Given the description of an element on the screen output the (x, y) to click on. 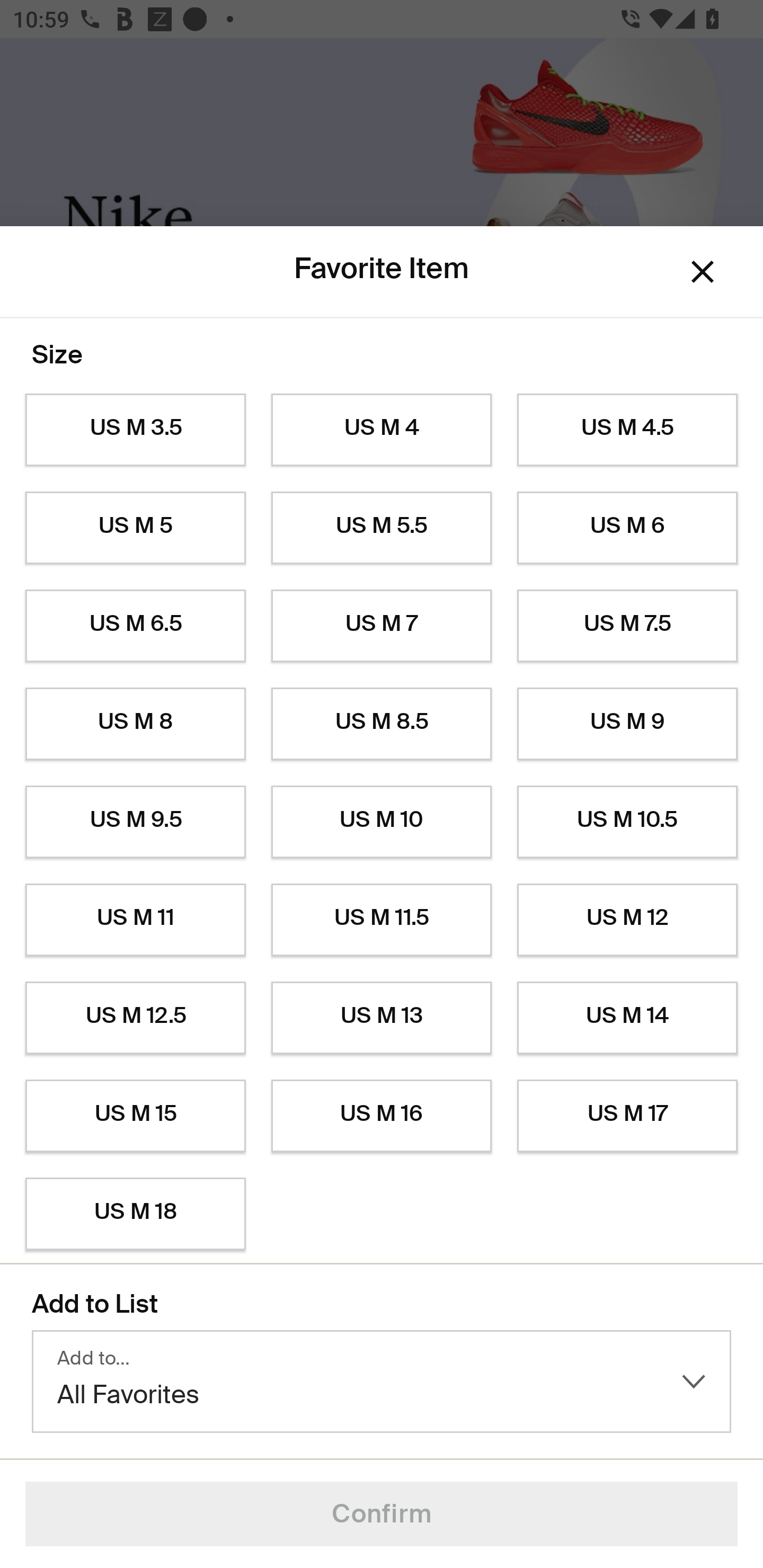
Dismiss (702, 271)
US M 3.5 (135, 430)
US M 4 (381, 430)
US M 4.5 (627, 430)
US M 5 (135, 527)
US M 5.5 (381, 527)
US M 6 (627, 527)
US M 6.5 (135, 626)
US M 7 (381, 626)
US M 7.5 (627, 626)
US M 8 (135, 724)
US M 8.5 (381, 724)
US M 9 (627, 724)
US M 9.5 (135, 822)
US M 10 (381, 822)
US M 10.5 (627, 822)
US M 11 (135, 919)
US M 11.5 (381, 919)
US M 12 (627, 919)
US M 12.5 (135, 1018)
US M 13 (381, 1018)
US M 14 (627, 1018)
US M 15 (135, 1116)
US M 16 (381, 1116)
US M 17 (627, 1116)
US M 18 (135, 1214)
Add to… All Favorites (381, 1381)
Confirm (381, 1513)
